Given the description of an element on the screen output the (x, y) to click on. 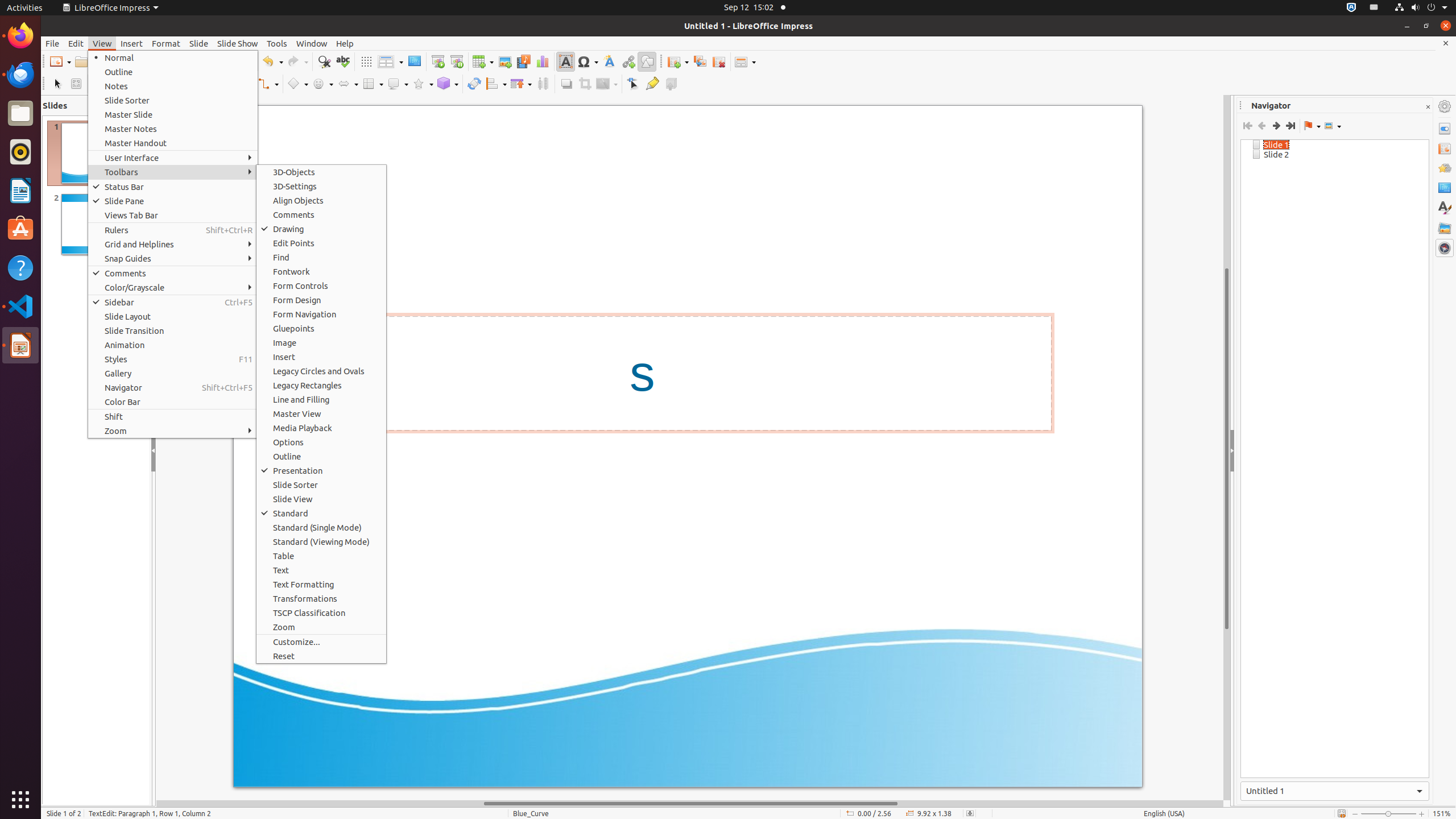
Shift Element type: menu-item (172, 416)
Thunderbird Mail Element type: push-button (20, 74)
